Given the description of an element on the screen output the (x, y) to click on. 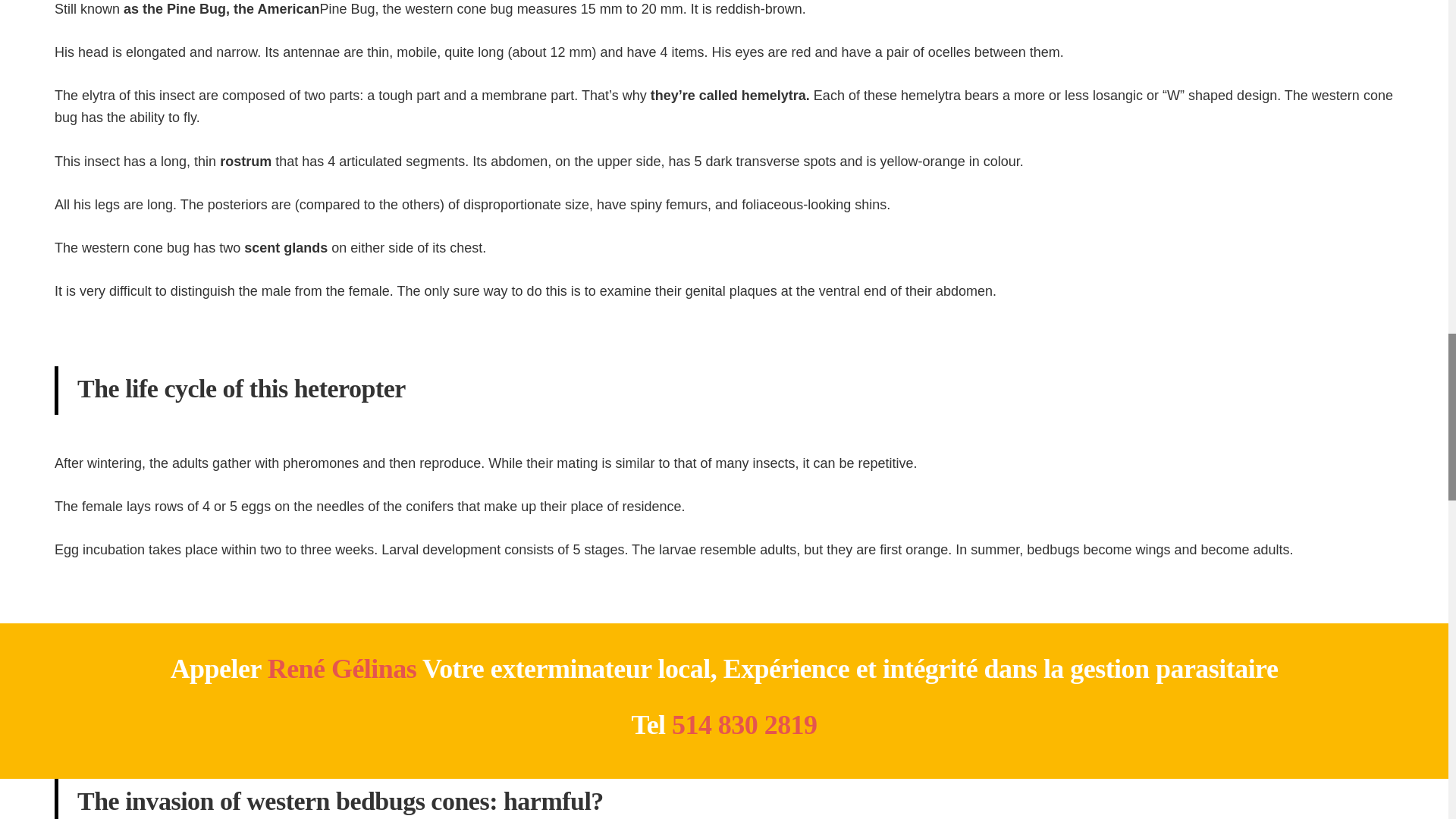
514 830 2819 (743, 725)
